Given the description of an element on the screen output the (x, y) to click on. 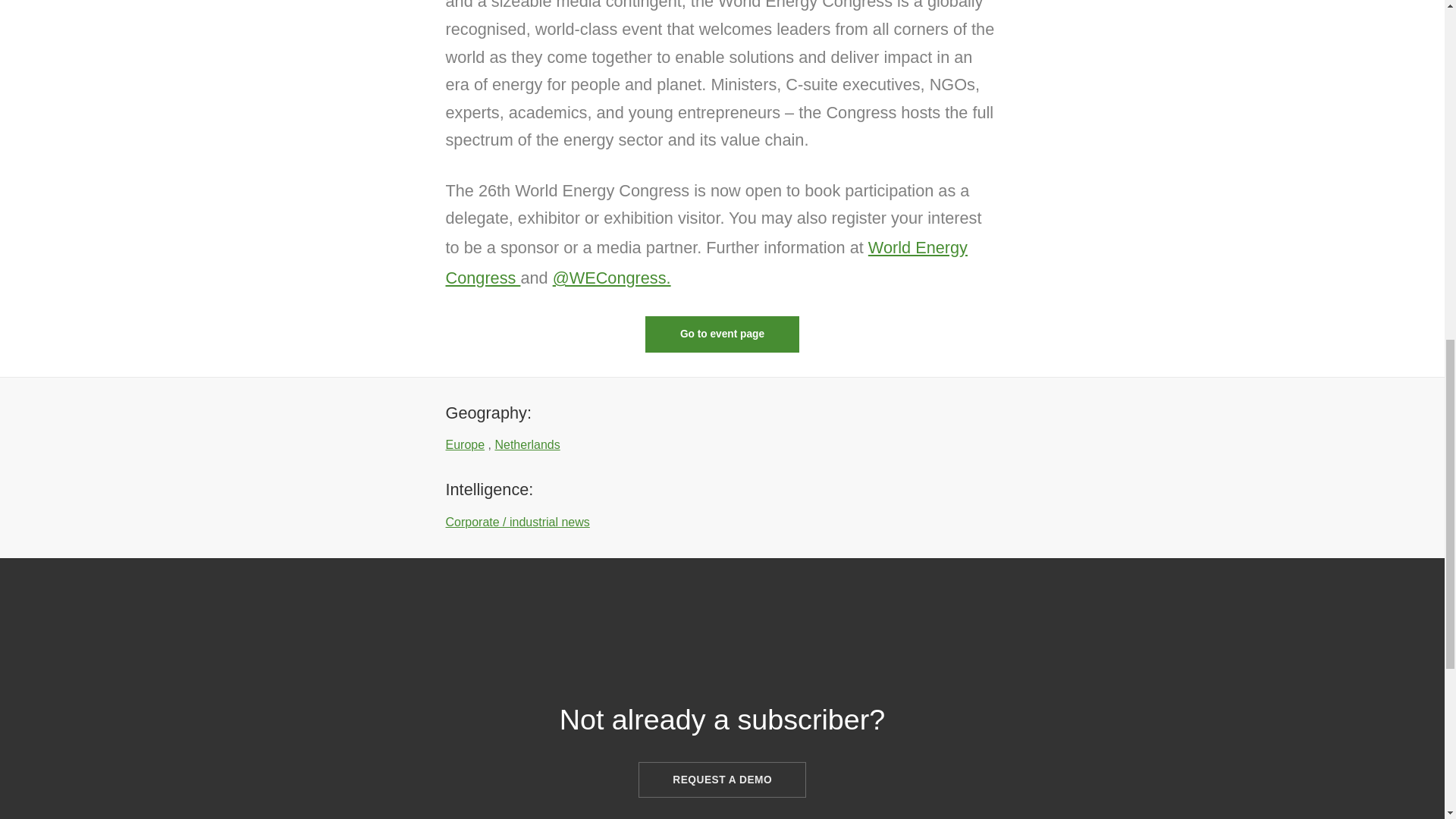
Netherlands (527, 444)
Europe (464, 444)
World Energy Congress  (706, 262)
REQUEST A DEMO (722, 780)
Go to event page (721, 334)
